Given the description of an element on the screen output the (x, y) to click on. 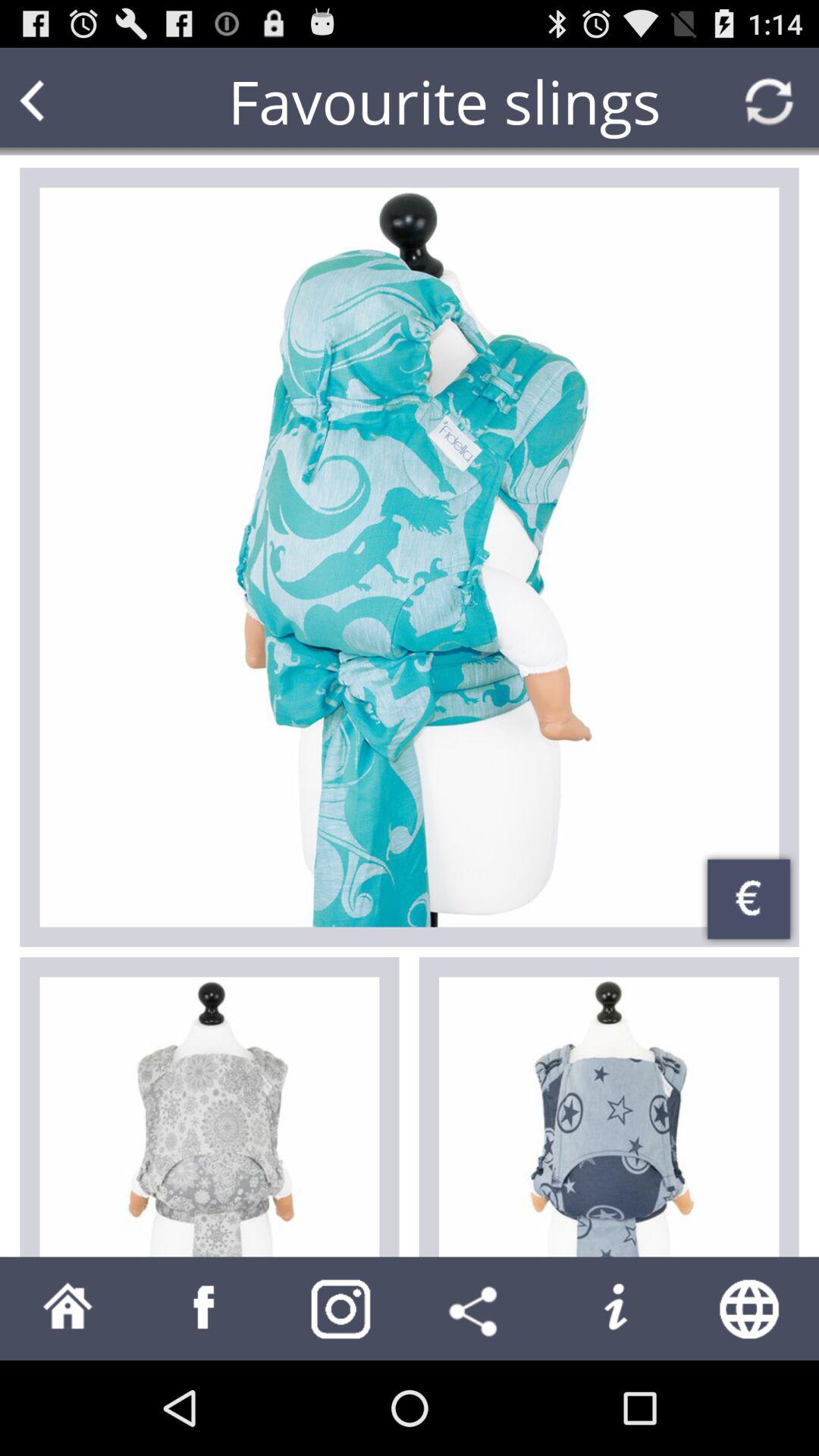
select first option on the left (209, 1116)
